Given the description of an element on the screen output the (x, y) to click on. 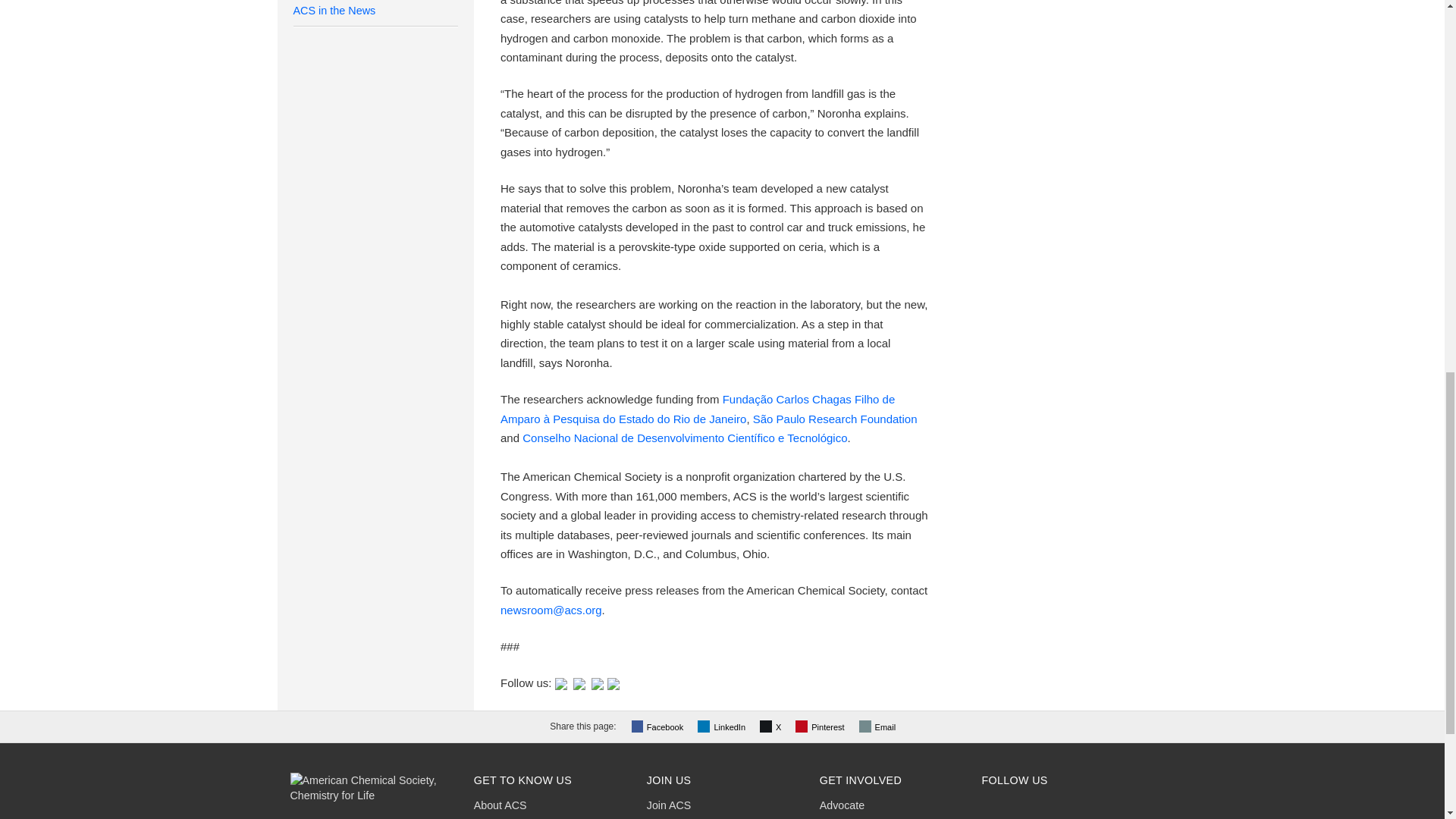
ACS on LinkedIn (597, 682)
ACS on Instagram (613, 682)
LinkedIn (723, 726)
ACS Press Room on Twitter (560, 682)
Tweet (772, 726)
Facebook (659, 726)
Email (879, 726)
Pinterest (820, 726)
ACS on Facebook (579, 682)
